Given the description of an element on the screen output the (x, y) to click on. 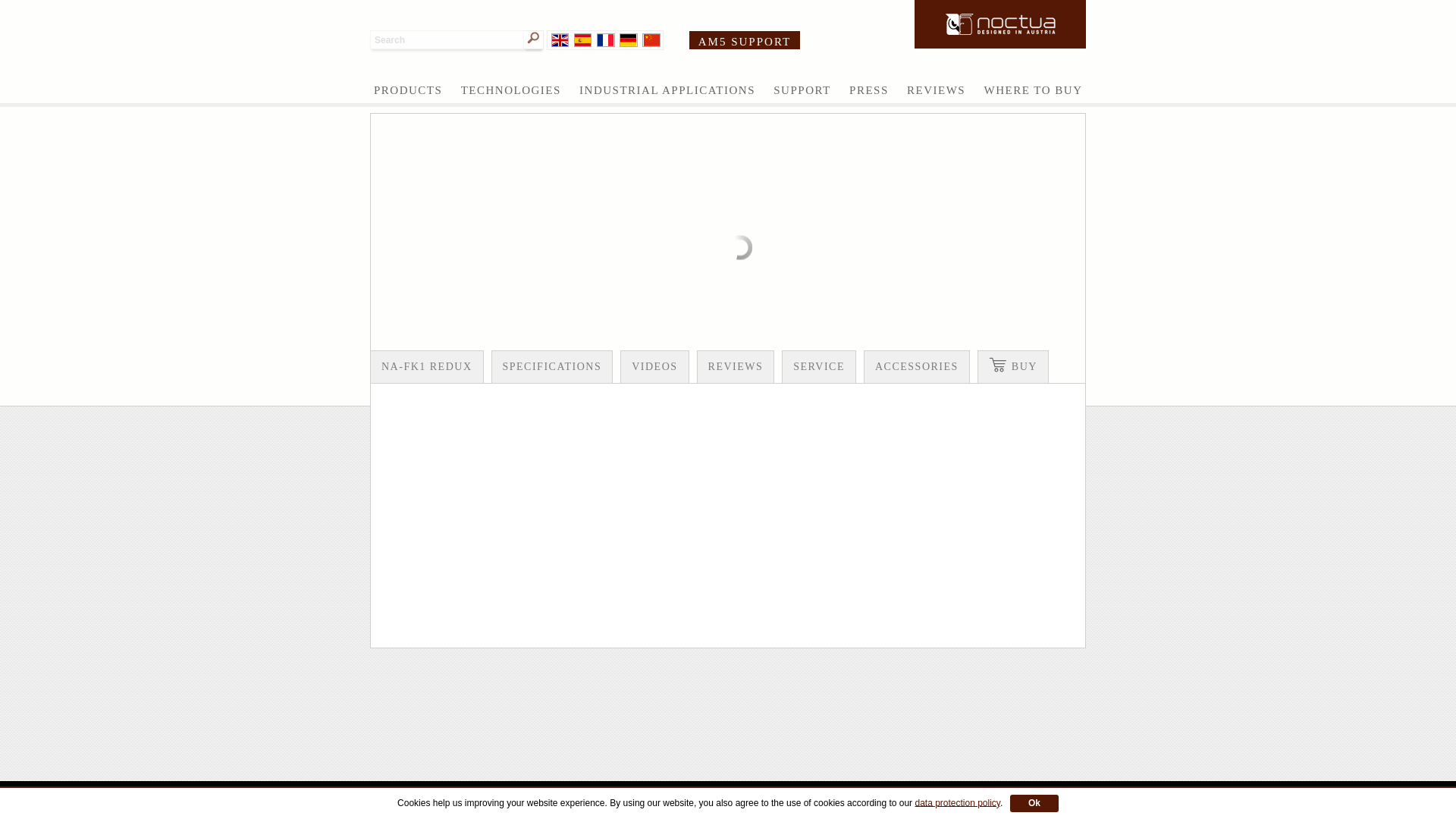
PRODUCTS (408, 90)
Service (818, 366)
NA-FK1 redux (427, 366)
Chinese (651, 39)
AM5 SUPPORT (744, 42)
ACCESSORIES (916, 366)
noctua (1000, 24)
Specifications (552, 366)
German (628, 39)
English (559, 39)
